Given the description of an element on the screen output the (x, y) to click on. 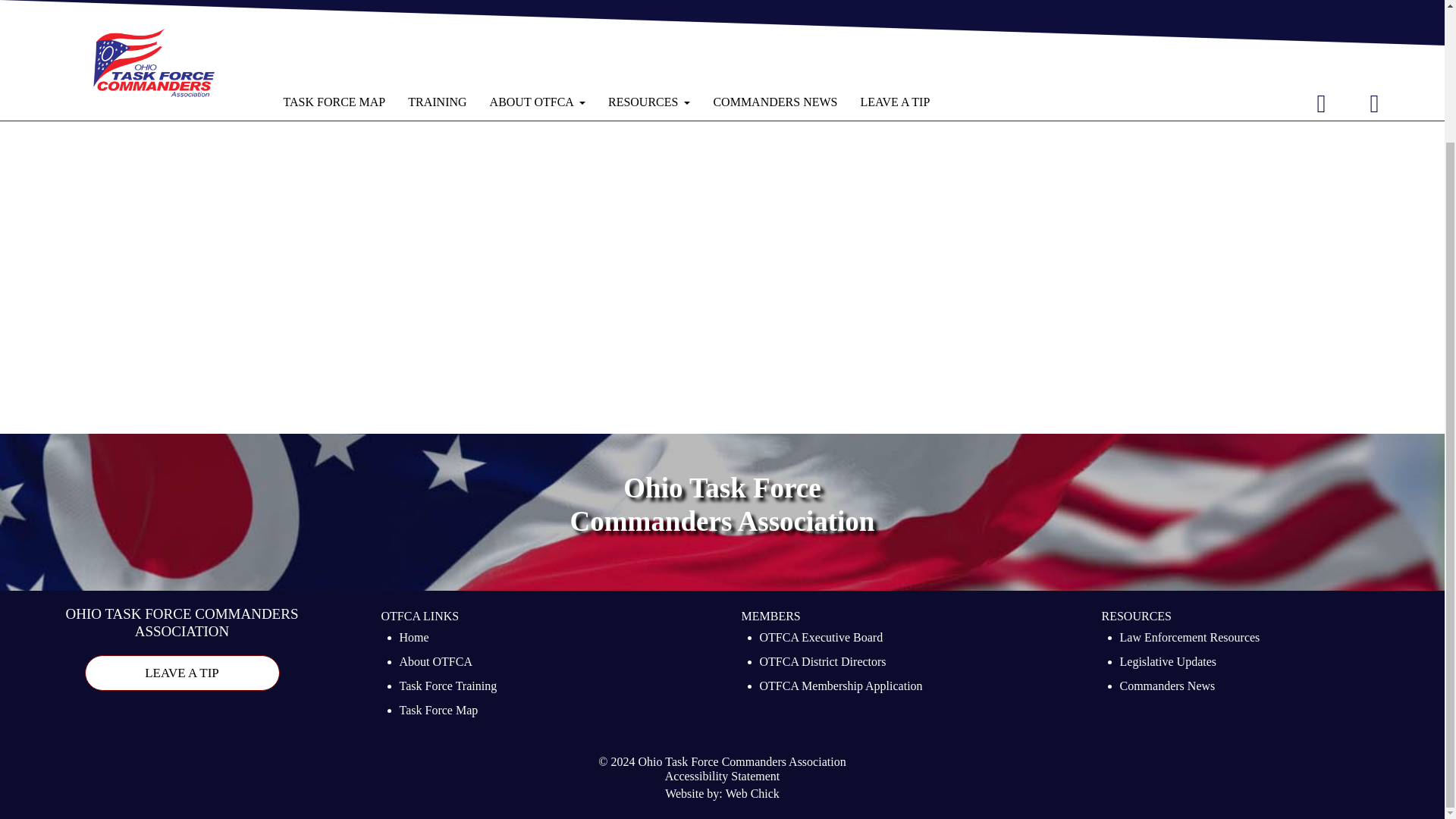
Task Force Training (447, 687)
Legislative Updates (1167, 663)
OTFCA Membership Application (841, 687)
Law Enforcement Resources (1189, 639)
About OTFCA (434, 663)
home page (460, 25)
Commanders News (1166, 687)
Home (413, 639)
OTFCA Executive Board (821, 639)
LEAVE A TIP (181, 673)
leave a tip button (181, 673)
Accessibility Statement (722, 777)
OTFCA District Directors (823, 663)
Web Chick (751, 794)
Task Force Map (437, 711)
